Given the description of an element on the screen output the (x, y) to click on. 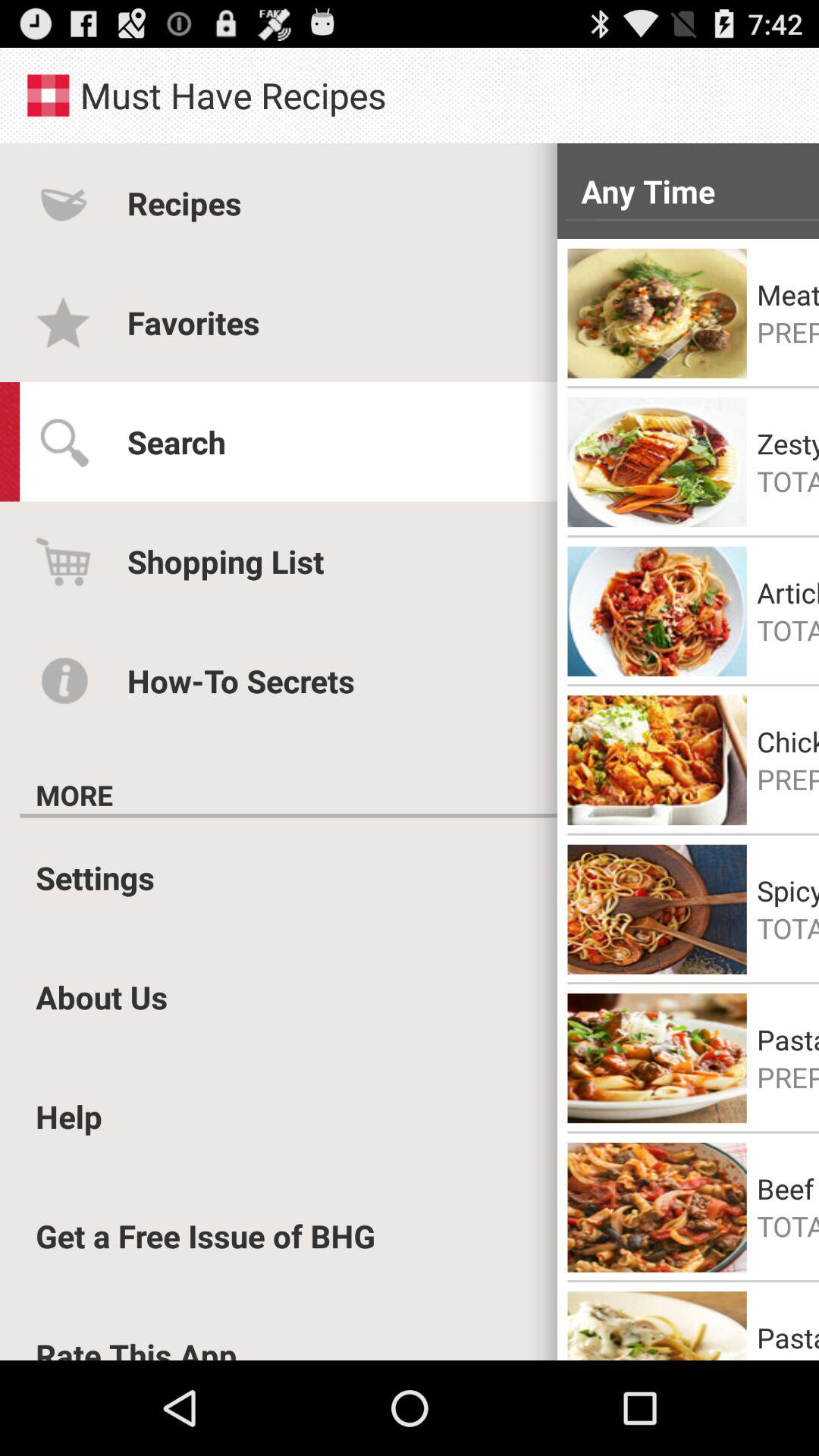
tap app below the more app (288, 815)
